Given the description of an element on the screen output the (x, y) to click on. 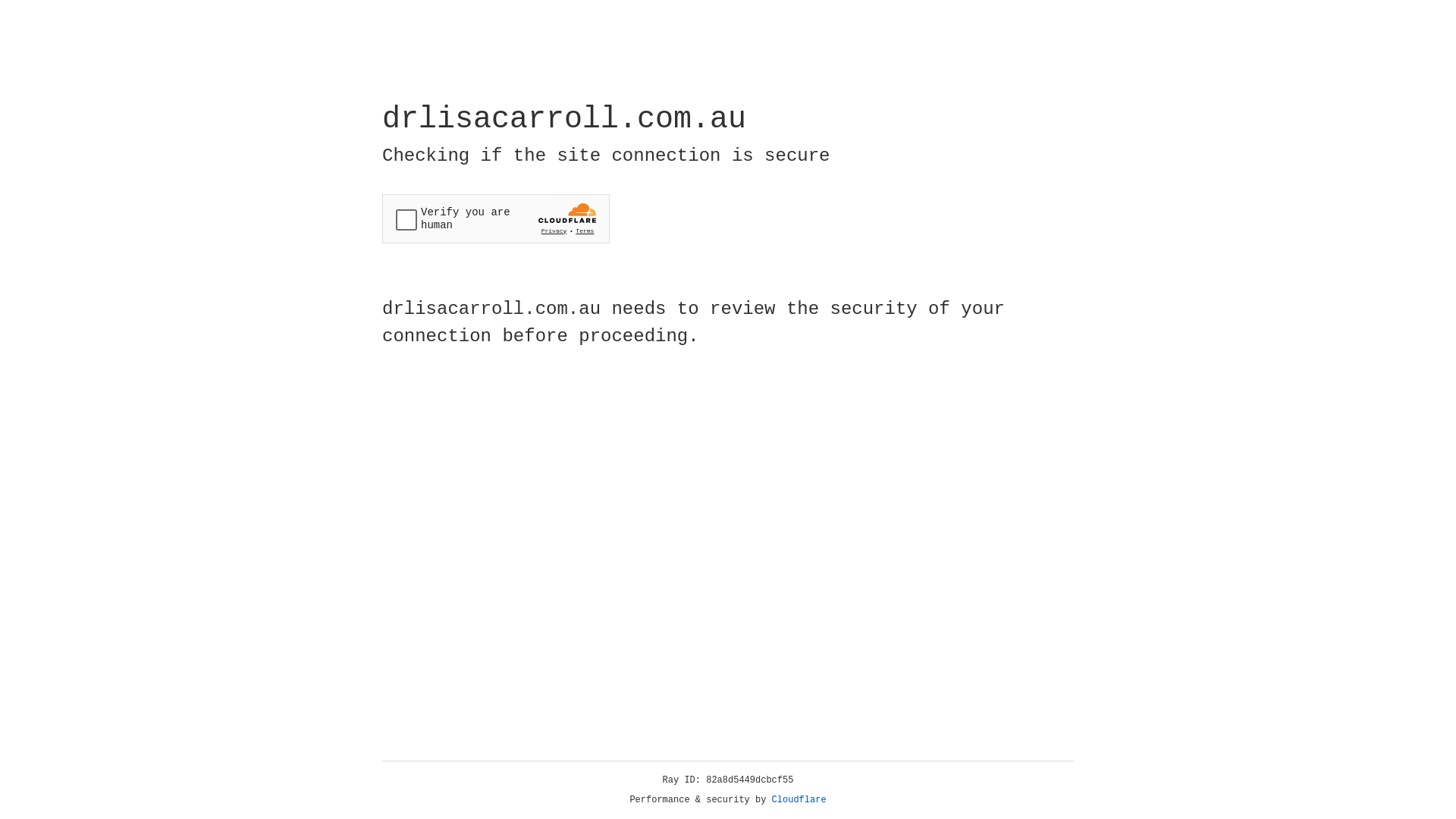
Cloudflare Element type: text (798, 799)
Widget containing a Cloudflare security challenge Element type: hover (495, 218)
